Given the description of an element on the screen output the (x, y) to click on. 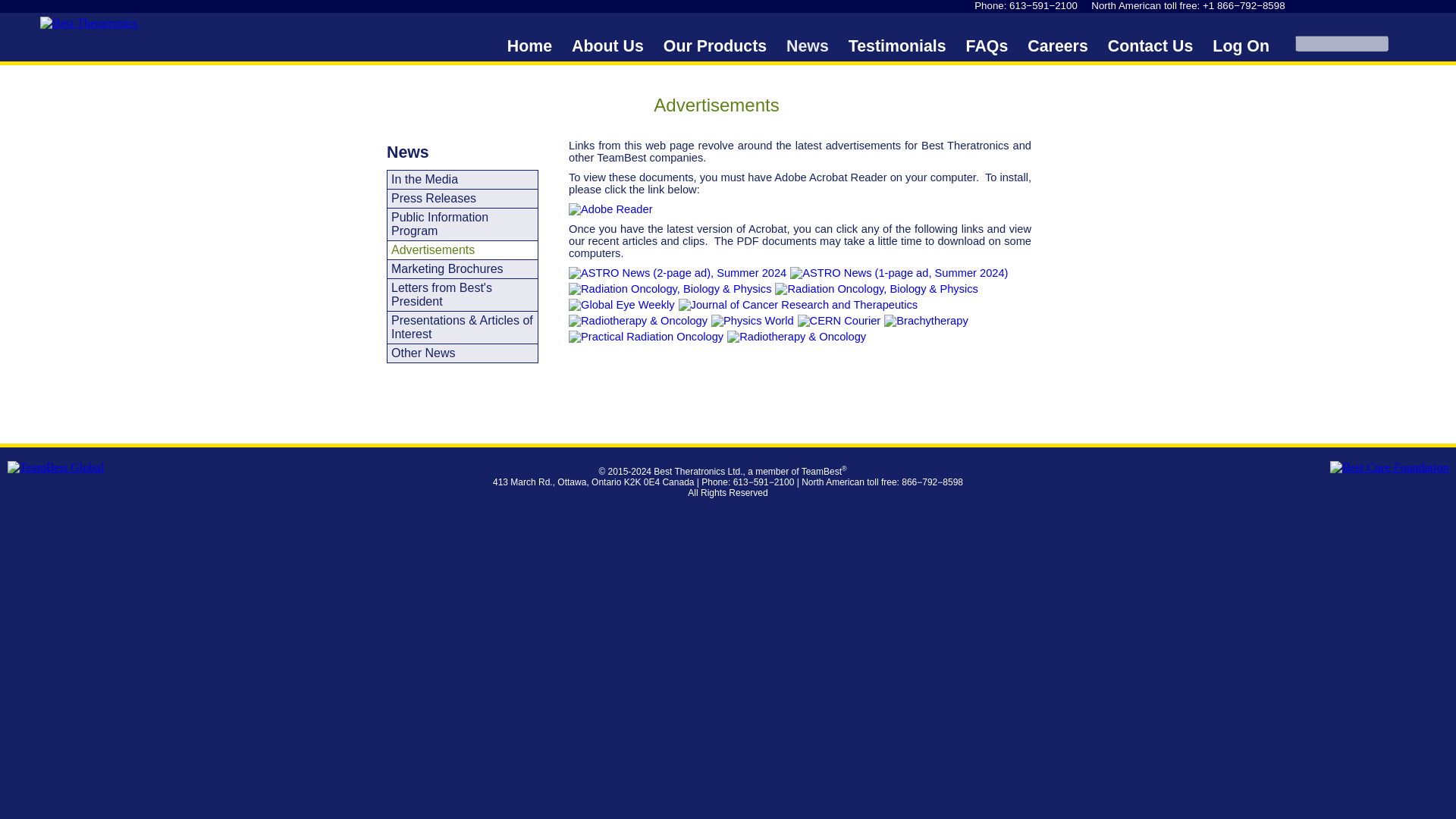
Letters from Best's President (462, 295)
About Us (607, 46)
FAQs (986, 46)
Careers (1057, 46)
Our Products (715, 46)
Marketing Brochures (462, 269)
Other News (462, 352)
Press Releases (462, 198)
In the Media (462, 179)
Advertisements (462, 249)
Testimonials (897, 46)
Home (528, 46)
Log On (1241, 46)
Contact Us (1150, 46)
Public Information Program (462, 224)
